Given the description of an element on the screen output the (x, y) to click on. 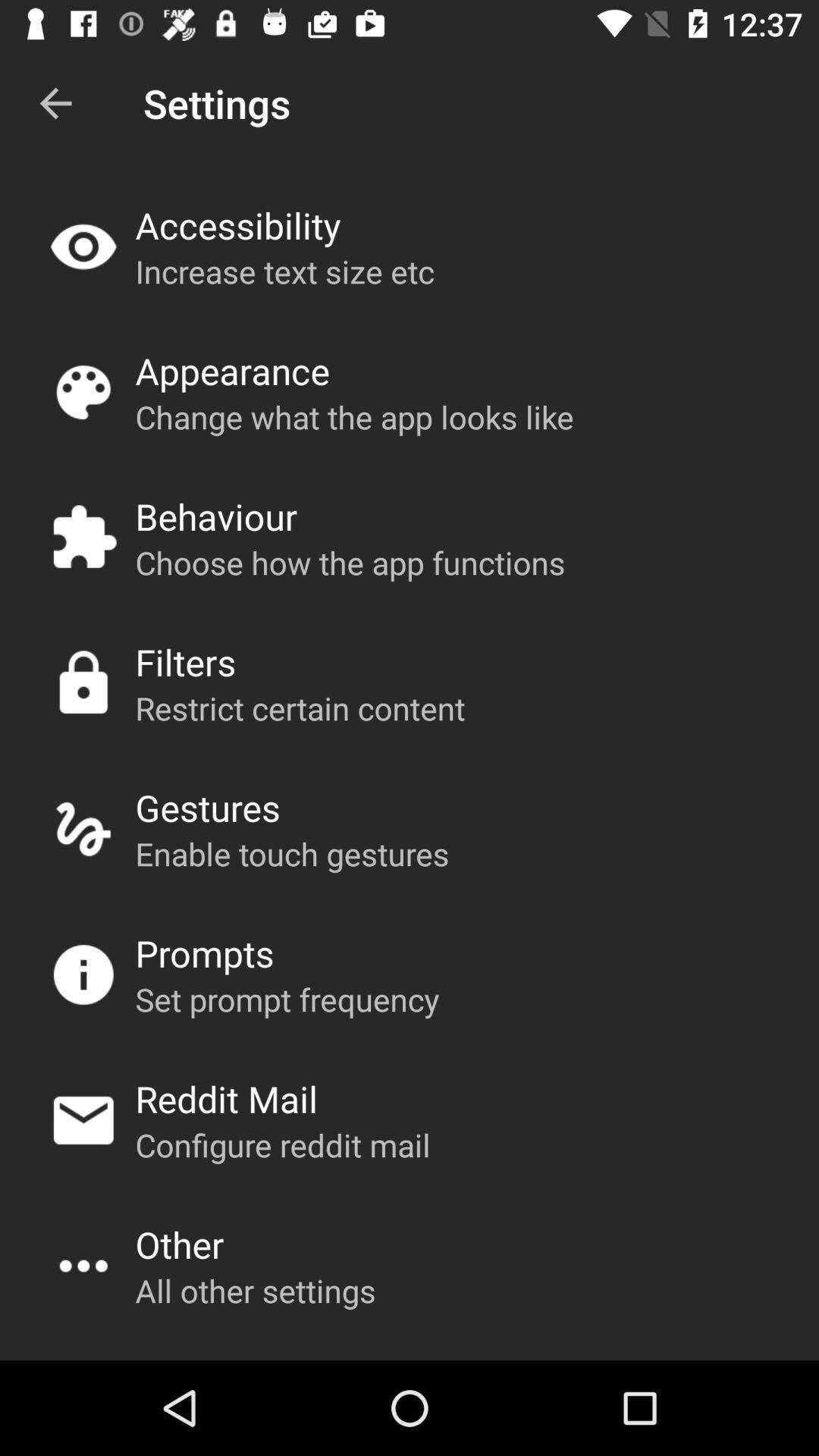
press the app above choose how the app (216, 515)
